Given the description of an element on the screen output the (x, y) to click on. 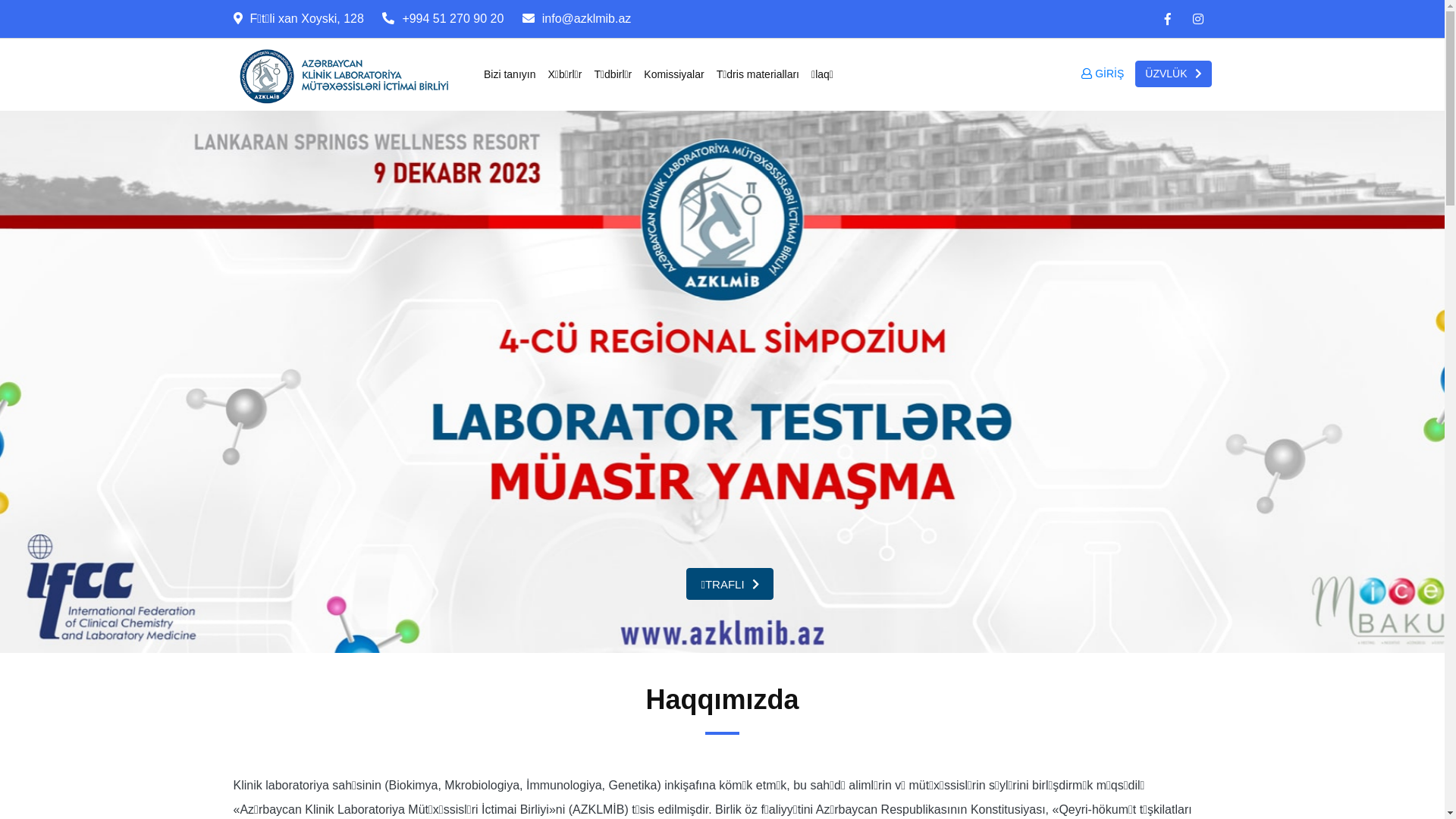
Komissiyalar Element type: text (673, 73)
